Given the description of an element on the screen output the (x, y) to click on. 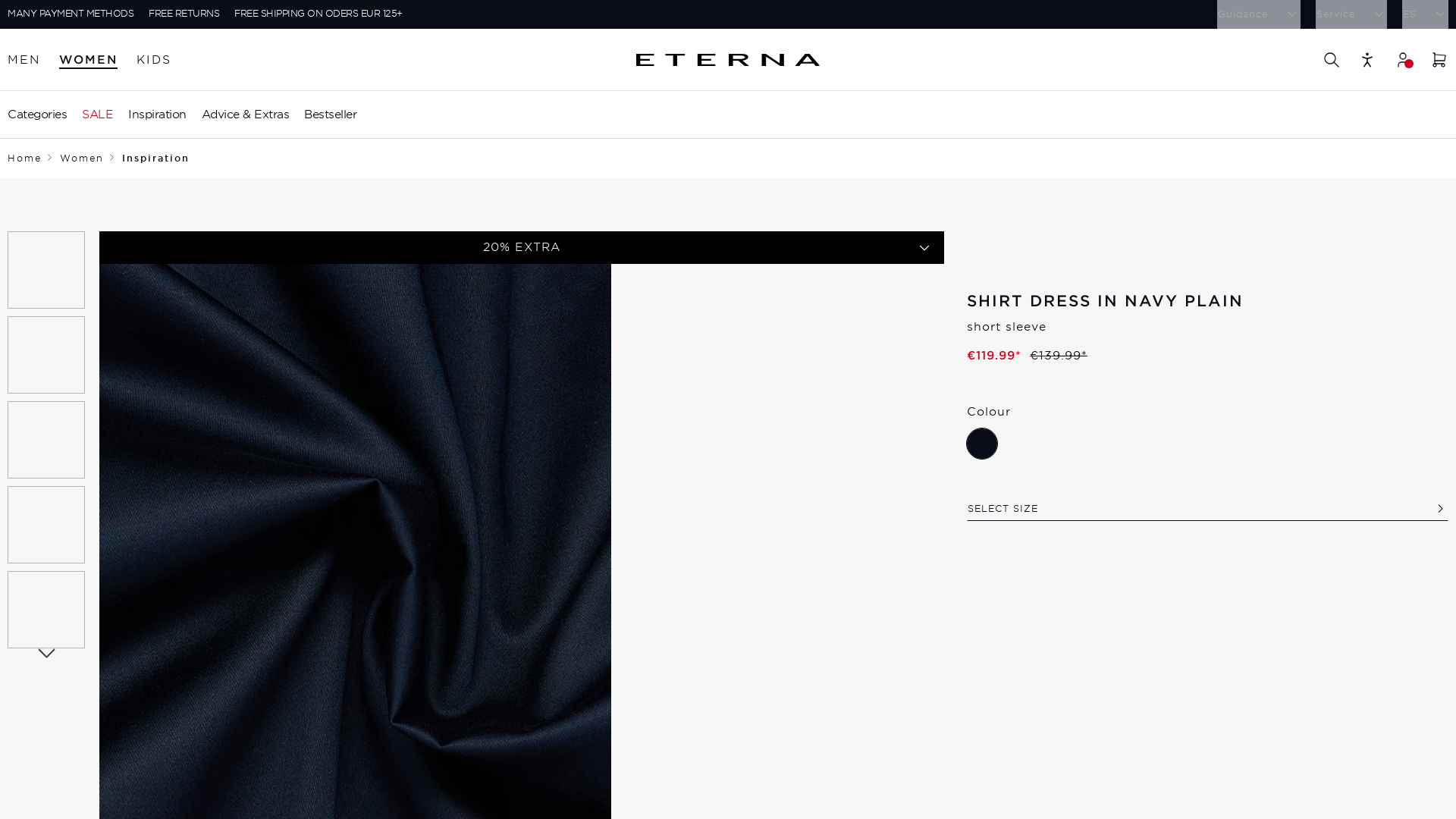
WOMEN (88, 59)
KIDS (153, 59)
Guidance (1258, 14)
Service (1350, 14)
MEN (23, 59)
ES (1425, 14)
